Given the description of an element on the screen output the (x, y) to click on. 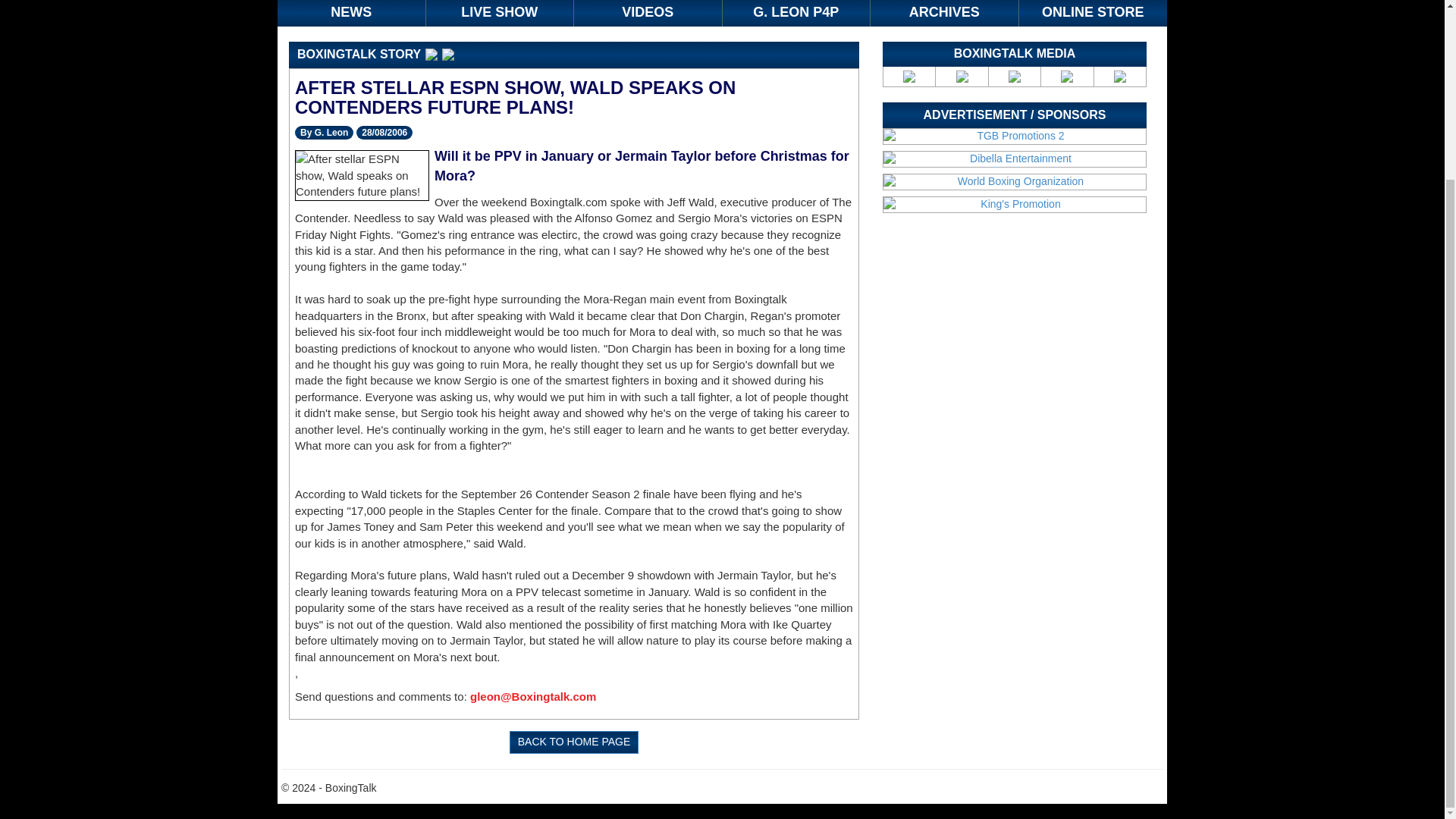
King's Promotion (1014, 204)
TGB Promotions 2 (1014, 136)
Dibella Entertainment (1014, 159)
World Boxing Organization (1014, 181)
